Given the description of an element on the screen output the (x, y) to click on. 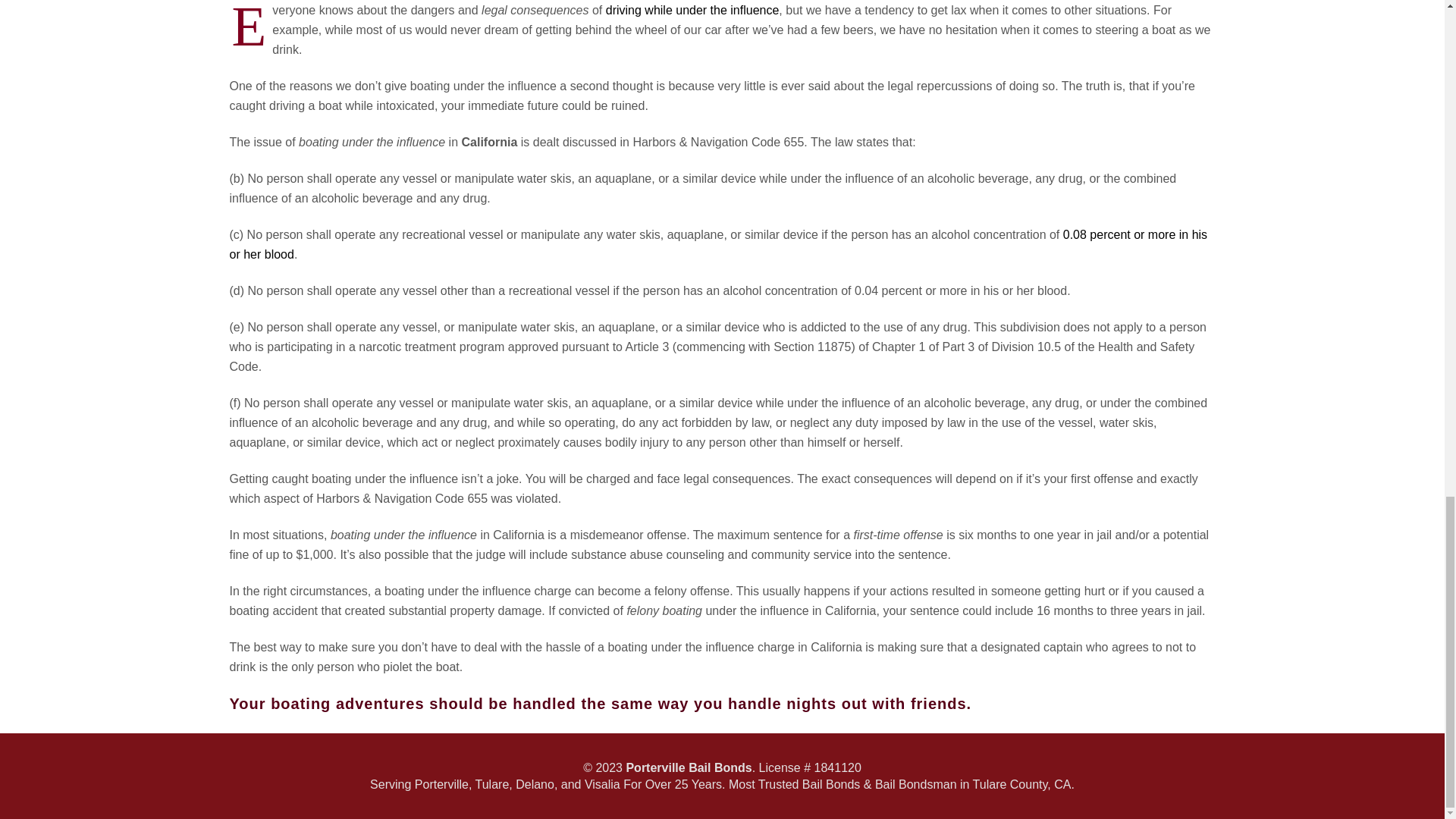
How Much is 1 Serving of Alcohol? (717, 244)
driving while under the influence (691, 10)
0.08 percent or more in his or her blood (717, 244)
The Dangers of Drunk Driving (691, 10)
